Given the description of an element on the screen output the (x, y) to click on. 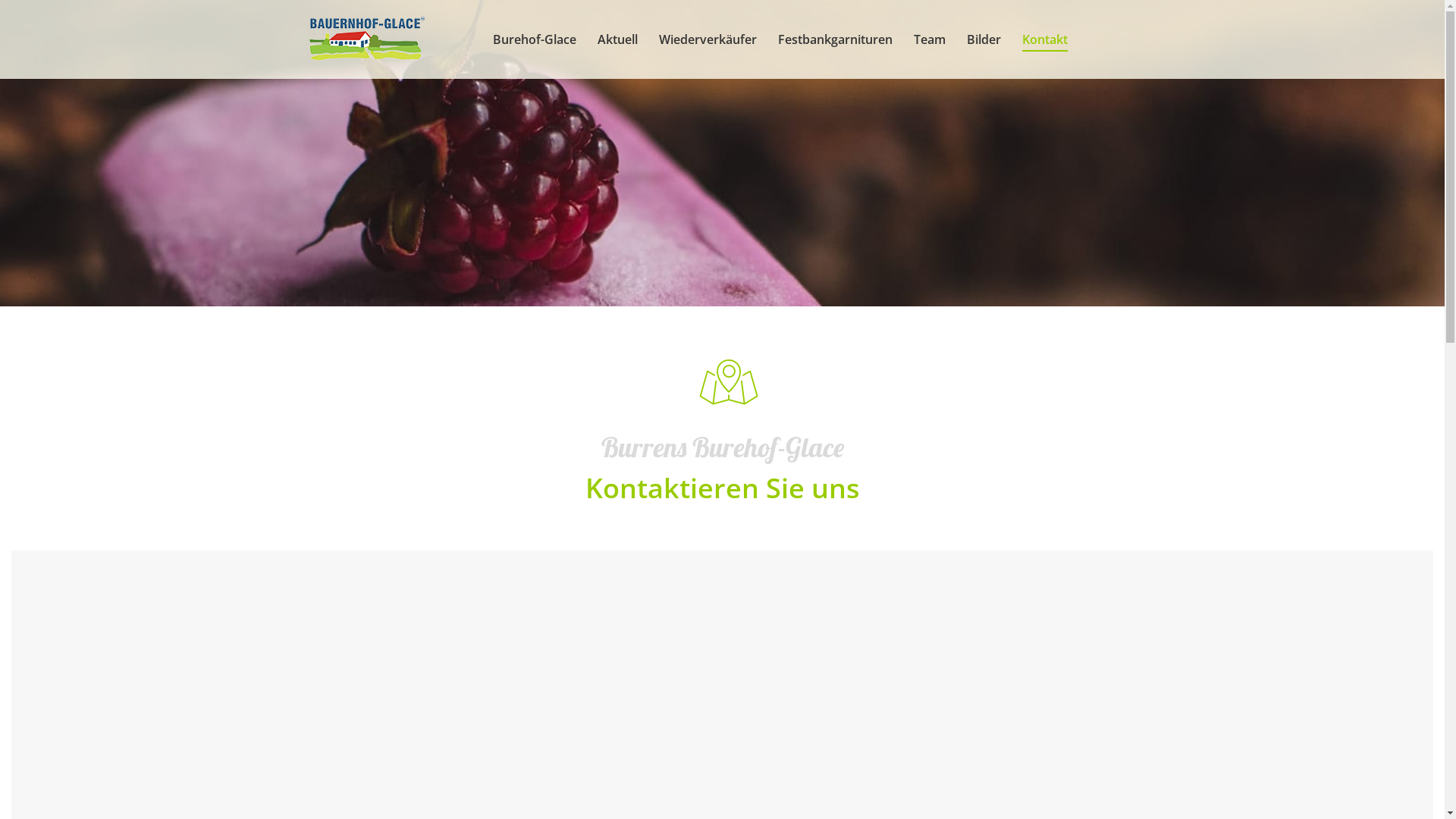
Los! Element type: text (25, 15)
Aktuell Element type: text (617, 39)
Burehof-Glace Element type: text (534, 39)
Bilder Element type: text (983, 39)
Team Element type: text (928, 39)
Kontakt Element type: text (1044, 39)
Festbankgarnituren Element type: text (835, 39)
